Given the description of an element on the screen output the (x, y) to click on. 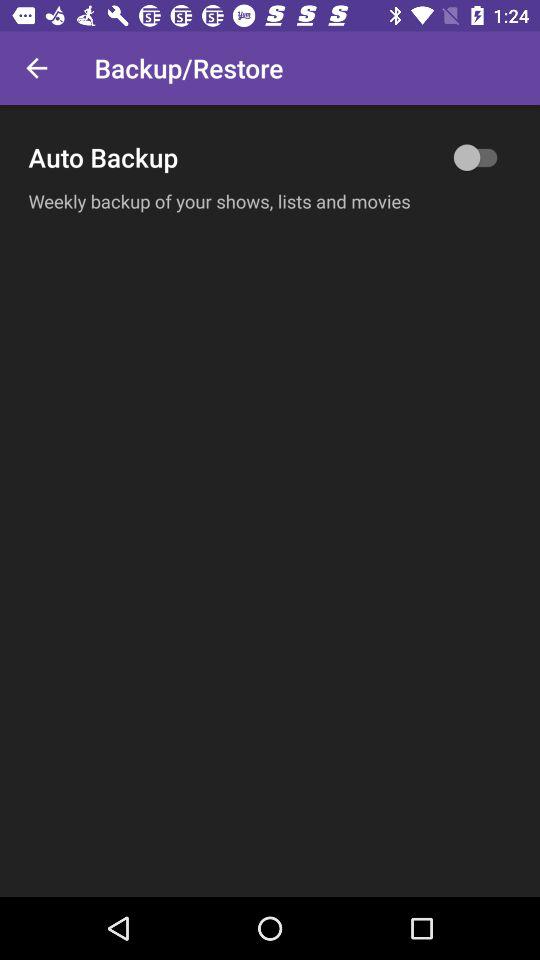
click icon next to backup/restore icon (36, 68)
